Given the description of an element on the screen output the (x, y) to click on. 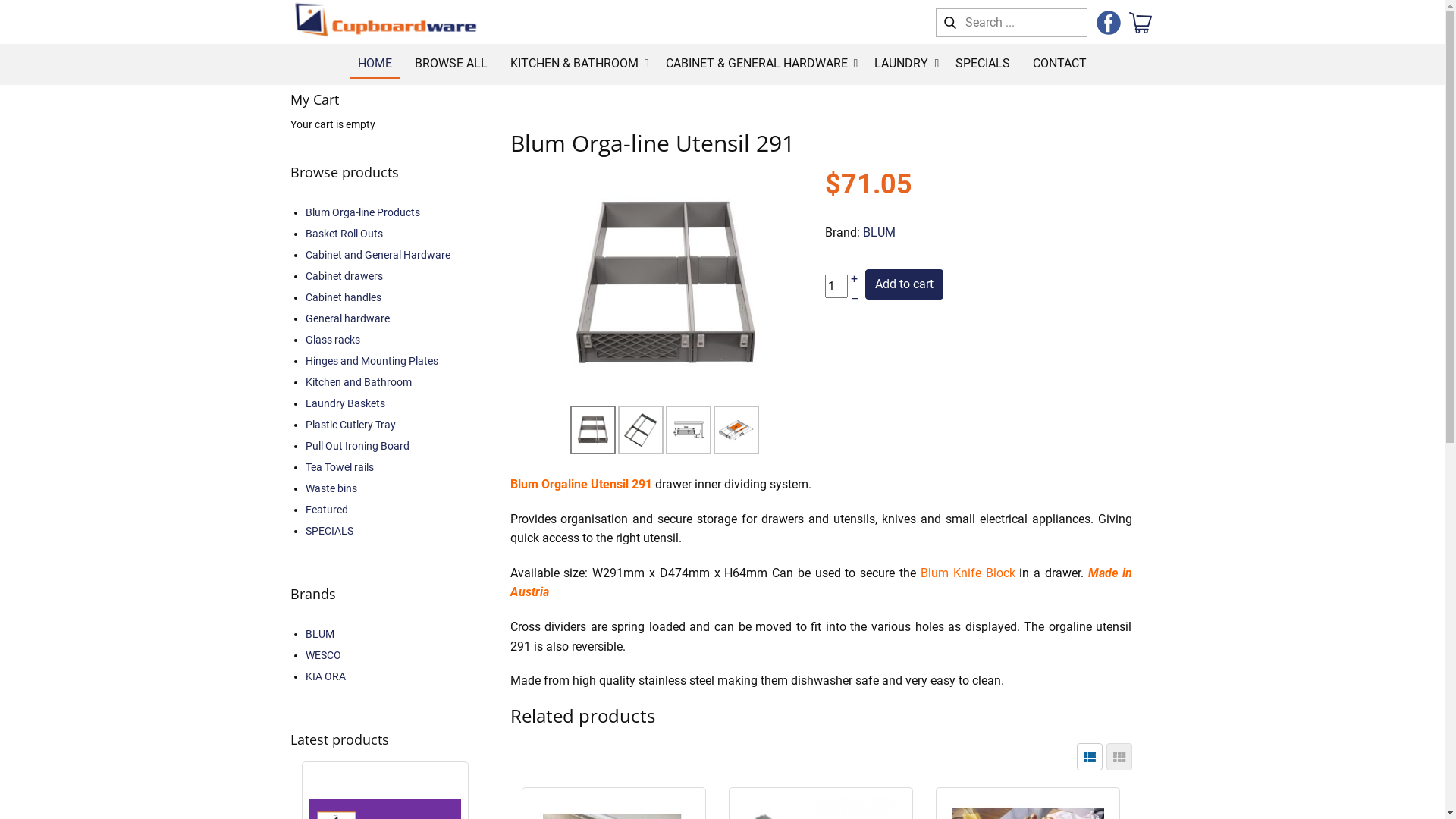
CONTACT Element type: text (1059, 64)
Blum Orga-line Products Element type: text (361, 212)
Plastic Cutlery Tray Element type: text (349, 424)
BLUM Element type: text (318, 633)
HOME Element type: text (374, 64)
Featured Element type: text (325, 509)
Blum Orga-line Utensil 291 Element type: hover (665, 283)
Basket Roll Outs Element type: text (343, 233)
Blum Orga-line Utensil 291 Element type: hover (665, 283)
Blum Orga-line Utensil 291 Element type: hover (640, 429)
Pull Out Ironing Board Element type: text (356, 445)
Laundry Baskets Element type: text (344, 403)
Glass racks Element type: text (331, 339)
Cabinet drawers Element type: text (343, 275)
WESCO Element type: text (322, 655)
facebook Element type: hover (1108, 22)
Hinges and Mounting Plates Element type: text (370, 360)
CABINET & GENERAL HARDWARE Element type: text (758, 64)
Blum Orga-line Utensil 291 Element type: hover (592, 428)
Kitchen and Bathroom Element type: text (357, 382)
+ Element type: text (853, 278)
Blum Orga-line Utensil 291 Element type: hover (735, 428)
Add to cart Element type: text (903, 284)
Cabinet and General Hardware Element type: text (376, 254)
Blum Orga-line Utensil 291 Element type: hover (688, 428)
LAUNDRY Element type: text (903, 64)
Waste bins Element type: text (330, 488)
SPECIALS Element type: text (328, 530)
KIA ORA Element type: text (324, 676)
KITCHEN & BATHROOM Element type: text (576, 64)
Tea Towel rails Element type: text (338, 467)
Blum Orga-line Utensil 291 Element type: hover (592, 429)
SPECIALS Element type: text (982, 64)
Blum Orga-line Utensil 291 Element type: hover (639, 428)
Cabinet handles Element type: text (342, 297)
General hardware Element type: text (346, 318)
BLUM Element type: text (878, 232)
Blum Orga-line Utensil 291 Element type: hover (736, 429)
Blum Orga-line Utensil 291 Element type: hover (687, 429)
BROWSE ALL Element type: text (451, 64)
